Given the description of an element on the screen output the (x, y) to click on. 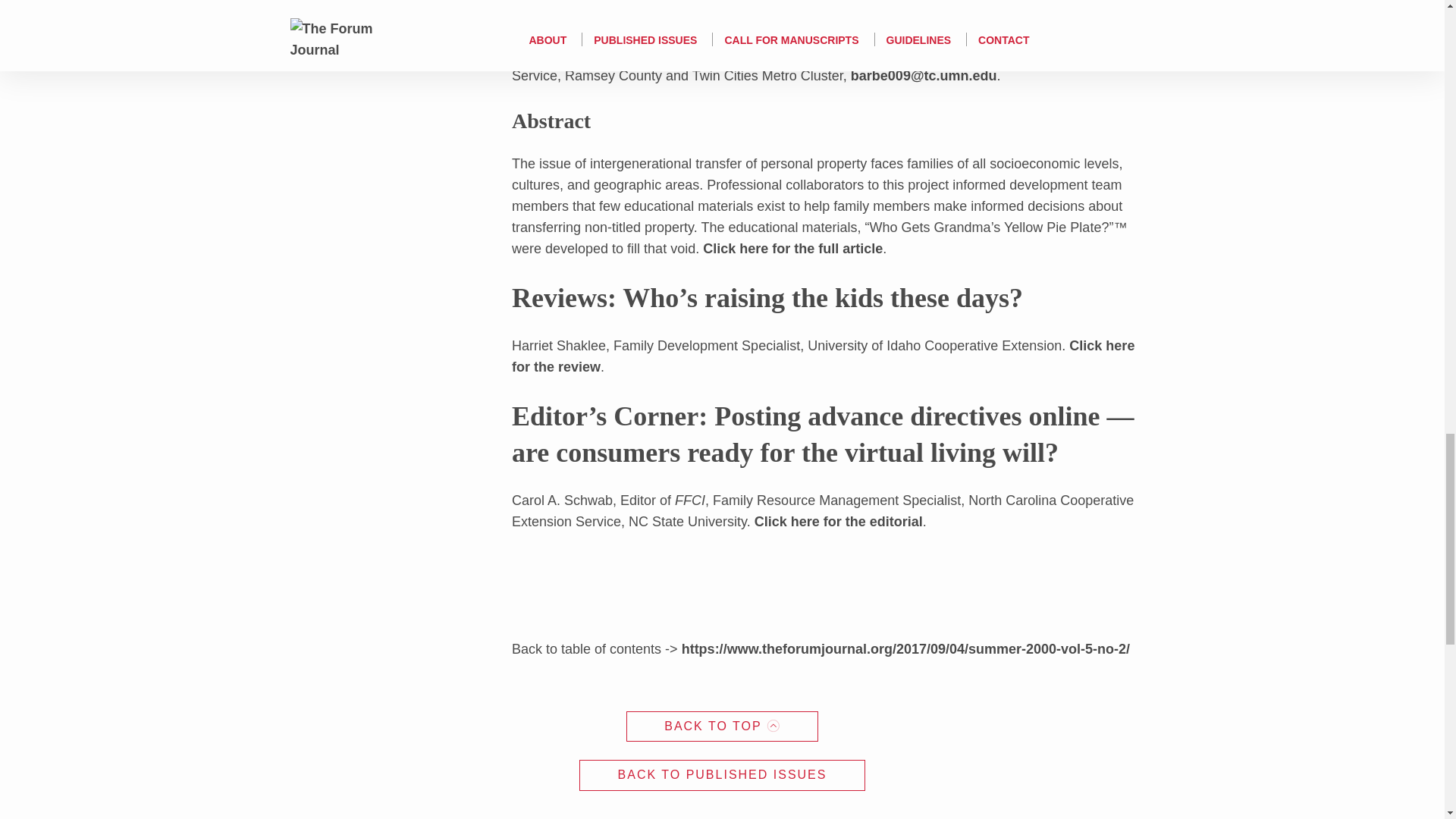
BACK TO PUBLISHED ISSUES (722, 775)
BACK TO TOP (722, 726)
Click here for the full article (792, 248)
Click here for the review (823, 356)
BACK TO TOP (722, 726)
Click here for the editorial (838, 521)
